Given the description of an element on the screen output the (x, y) to click on. 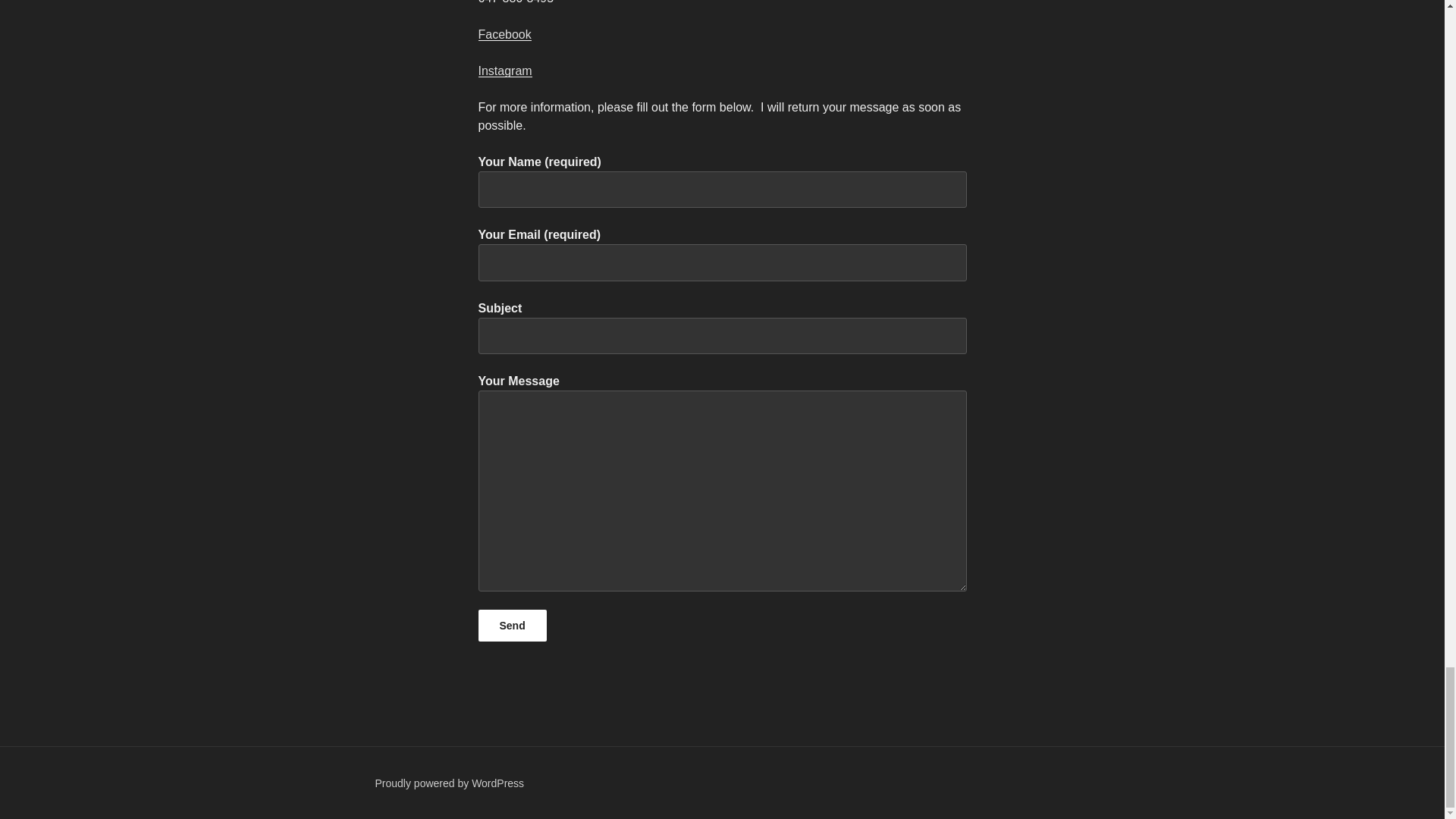
Facebook (504, 33)
Proudly powered by WordPress (449, 783)
Instagram (504, 70)
Send (511, 625)
Send (511, 625)
